Given the description of an element on the screen output the (x, y) to click on. 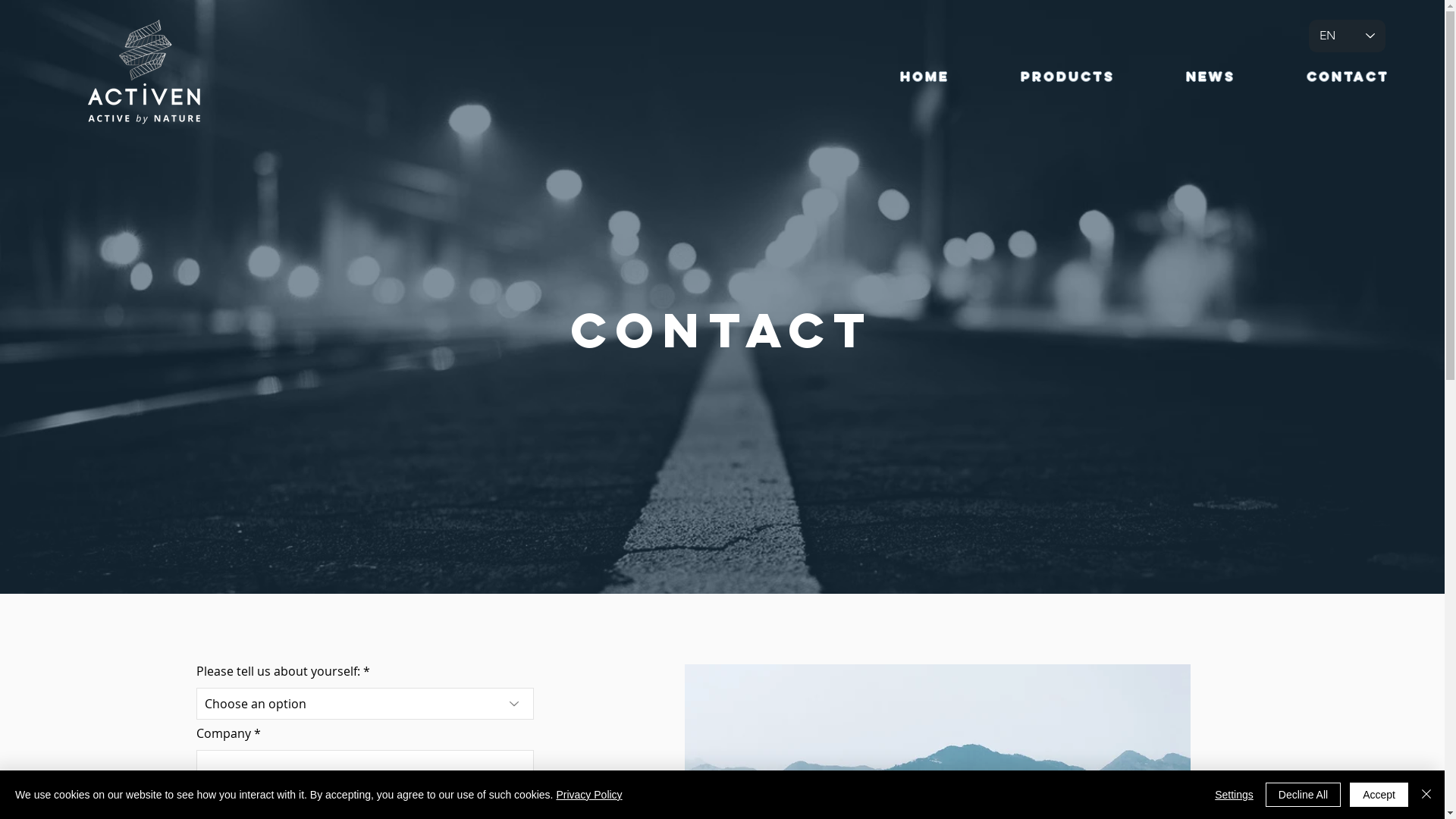
Contact Element type: text (1347, 76)
Decline All Element type: text (1302, 794)
Home Element type: text (924, 76)
News Element type: text (1210, 76)
Products Element type: text (1067, 76)
Accept Element type: text (1378, 794)
Privacy Policy Element type: text (588, 794)
